Given the description of an element on the screen output the (x, y) to click on. 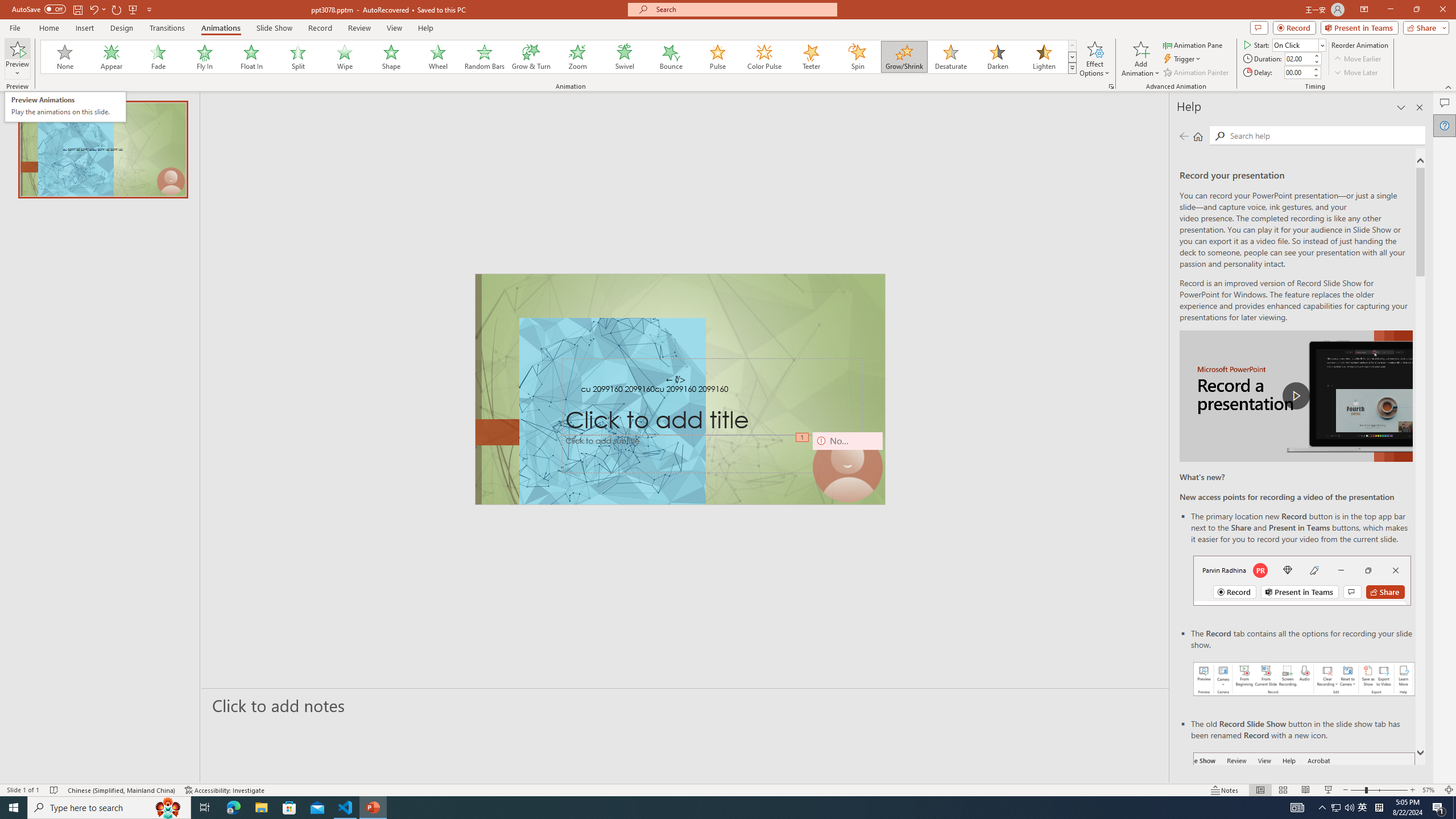
AutomationID: AnimationGallery (558, 56)
More Options... (1110, 85)
TextBox 7 (675, 380)
Effect Options (1094, 58)
Move Earlier (1357, 58)
Swivel (624, 56)
Wipe (344, 56)
Animation Delay (1297, 72)
Teeter (810, 56)
